Given the description of an element on the screen output the (x, y) to click on. 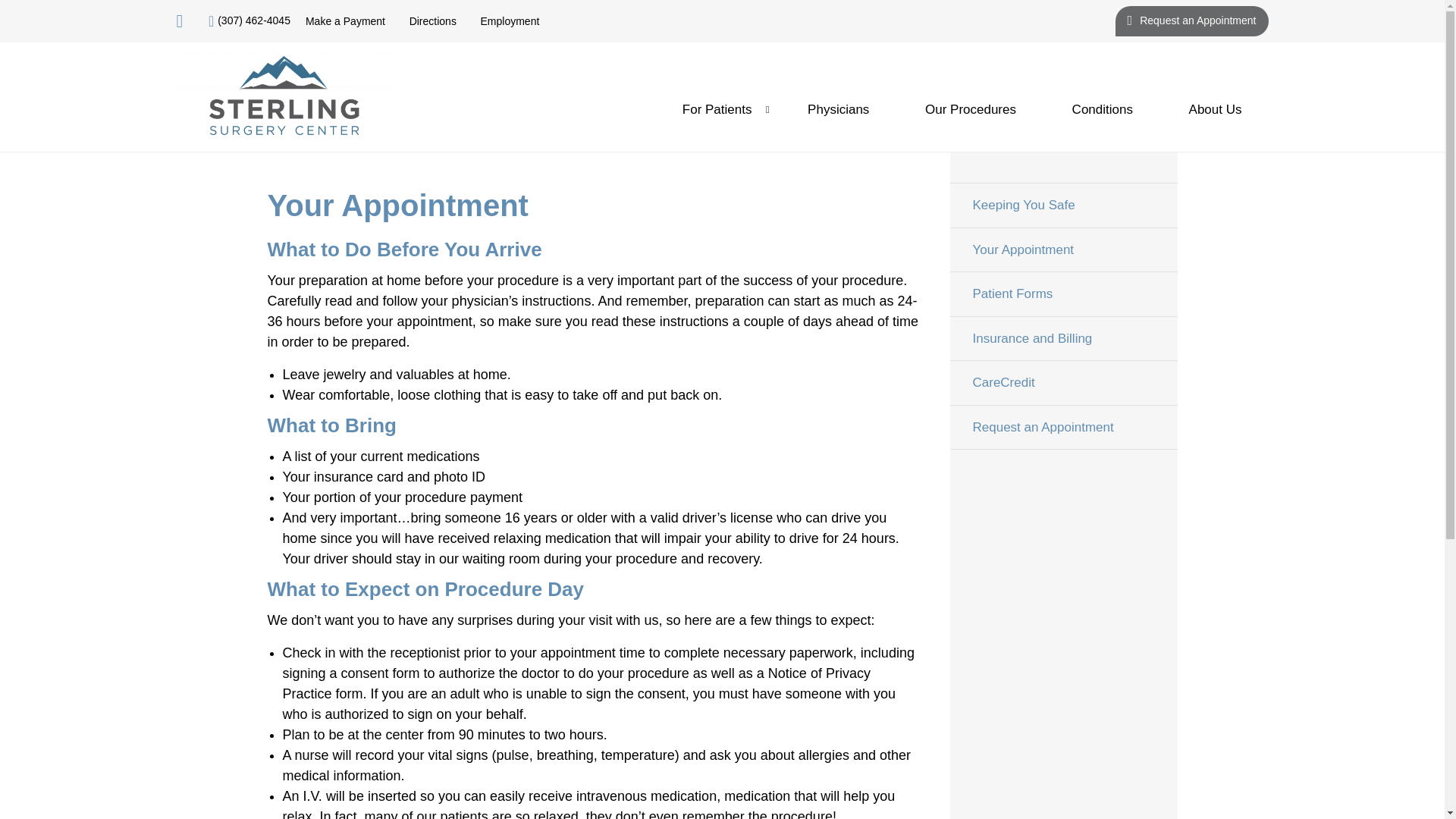
Request an Appointment (1062, 427)
Conditions (1101, 109)
Insurance and Billing (1062, 337)
Directions (433, 21)
About Us (1215, 109)
Employment (510, 21)
Physicians (838, 109)
Sterling Surgery Center (285, 96)
Make a Payment (345, 21)
Request an Appointment (1191, 20)
